Given the description of an element on the screen output the (x, y) to click on. 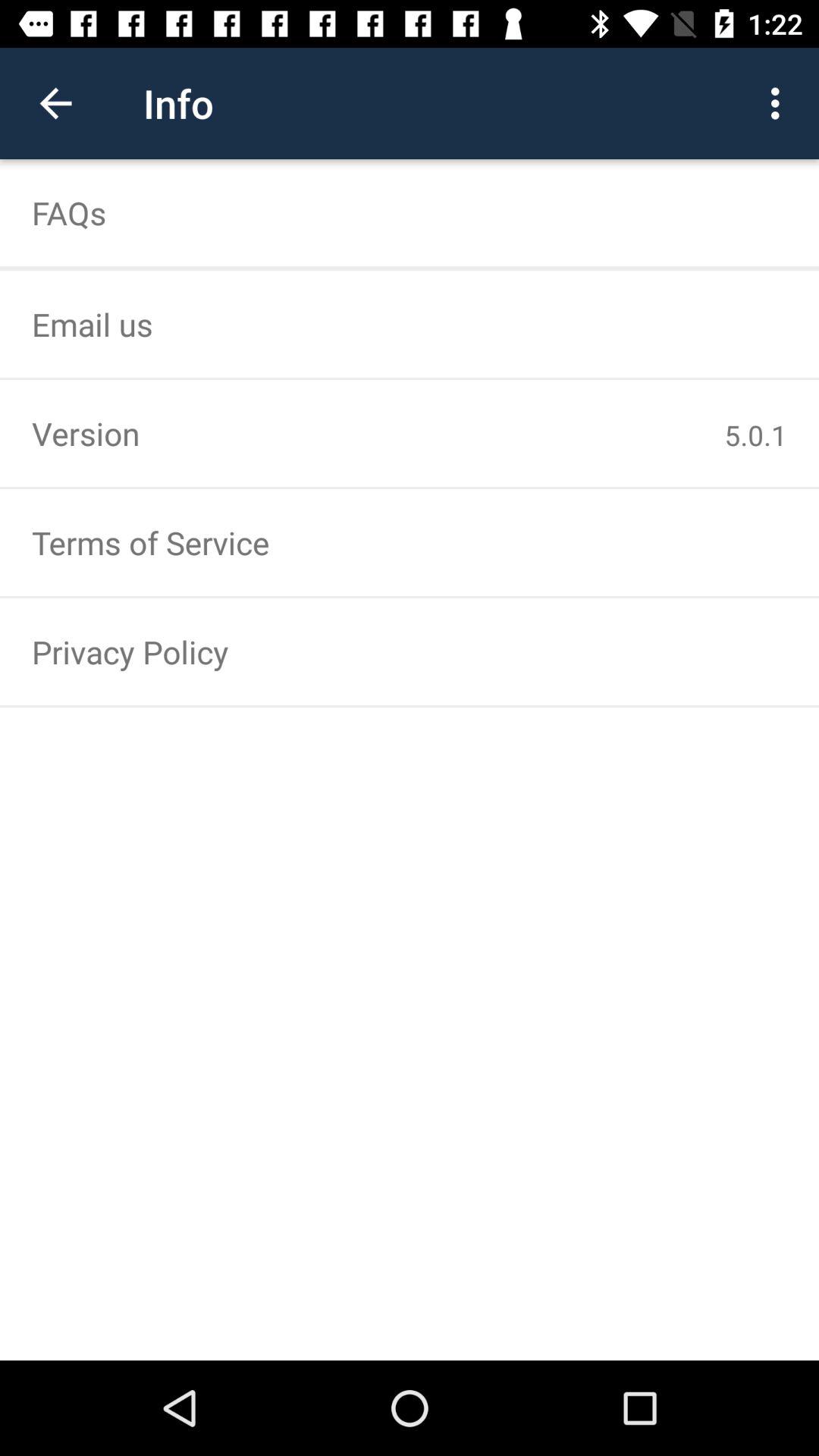
launch the icon to the left of the info item (55, 103)
